Given the description of an element on the screen output the (x, y) to click on. 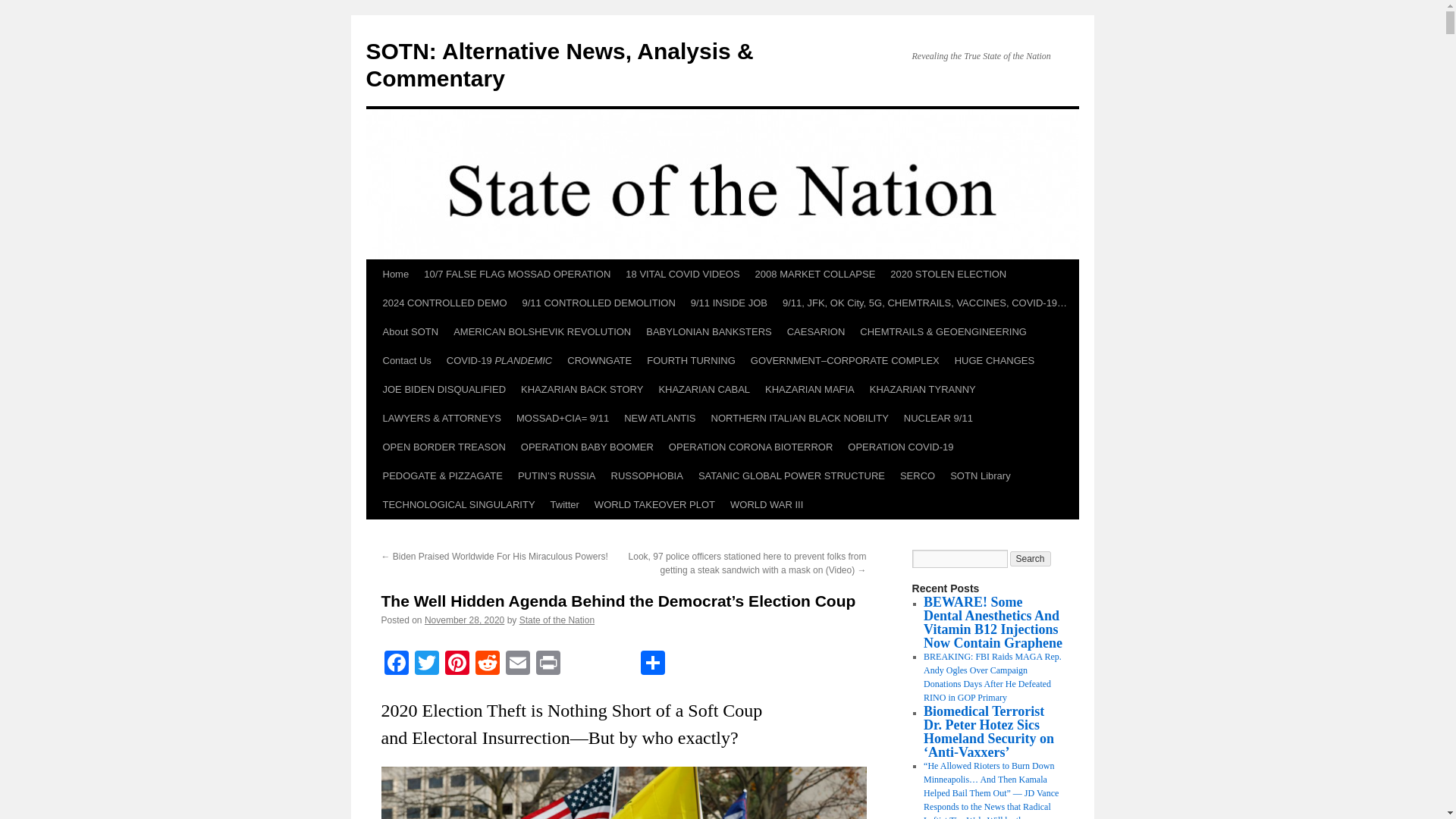
Twitter (425, 664)
2024 CONTROLLED DEMO (443, 303)
FOURTH TURNING (690, 360)
View all posts by State of the Nation (556, 620)
10:24 am (464, 620)
2020 STOLEN ELECTION (947, 274)
JOE BIDEN DISQUALIFIED (443, 389)
CROWNGATE (599, 360)
BABYLONIAN BANKSTERS (708, 331)
AMERICAN BOLSHEVIK REVOLUTION (542, 331)
NEW ATLANTIS (659, 418)
KHAZARIAN CABAL (703, 389)
18 VITAL COVID VIDEOS (681, 274)
NORTHERN ITALIAN BLACK NOBILITY (799, 418)
OPERATION CORONA BIOTERROR (750, 447)
